Given the description of an element on the screen output the (x, y) to click on. 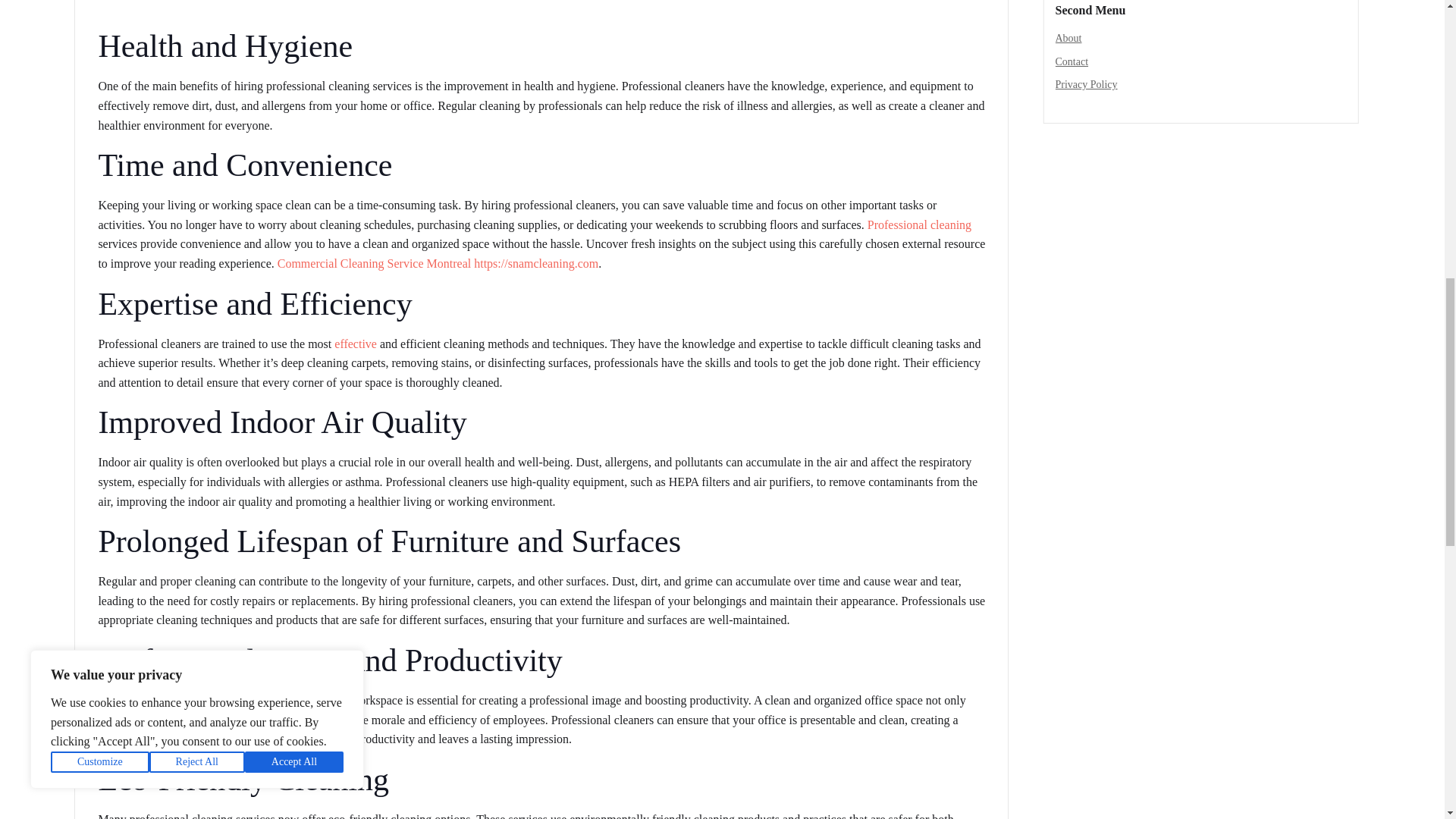
effective (355, 343)
admin (119, 0)
Professional cleaning (919, 224)
